Given the description of an element on the screen output the (x, y) to click on. 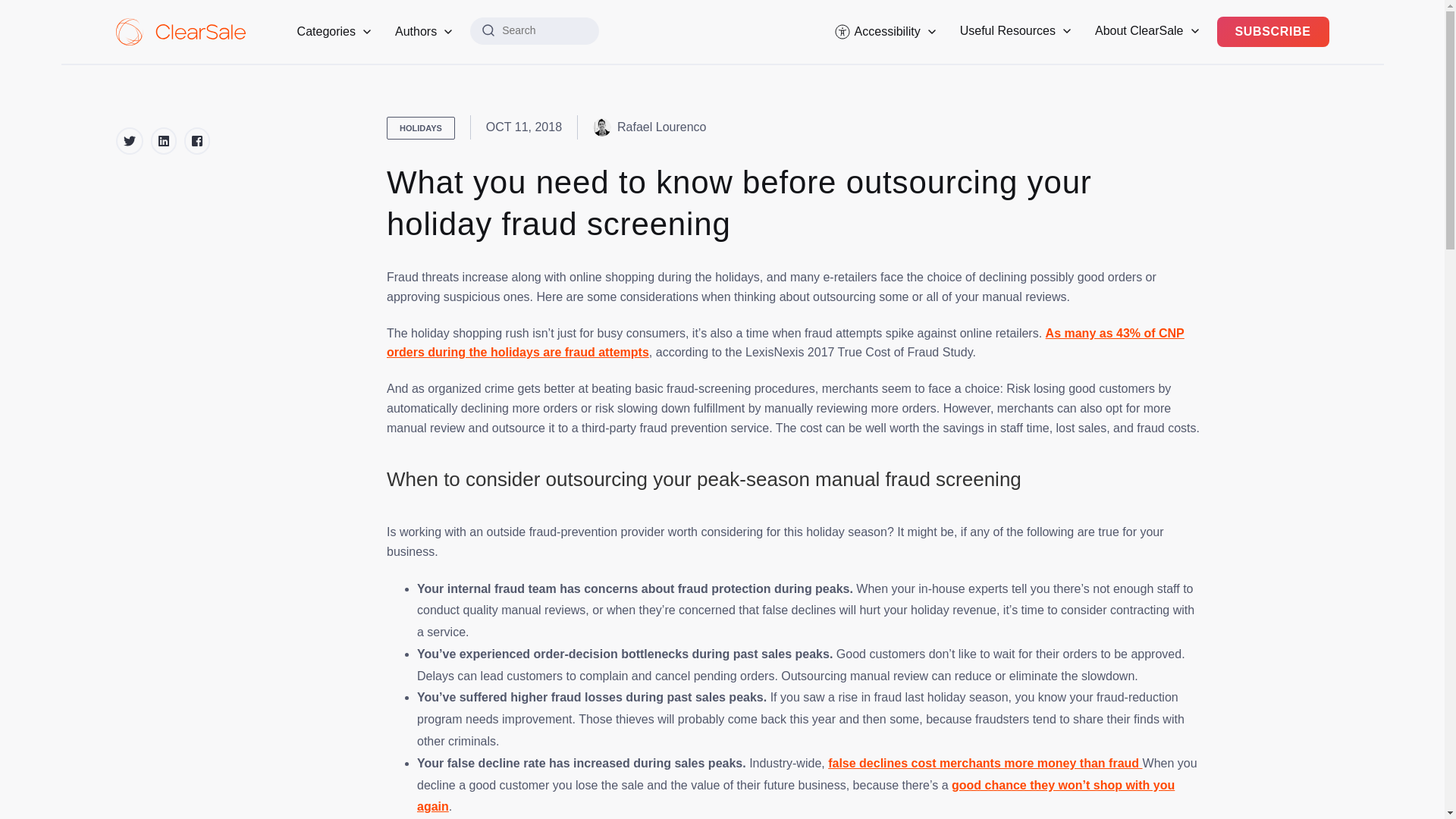
Categories (334, 31)
